Given the description of an element on the screen output the (x, y) to click on. 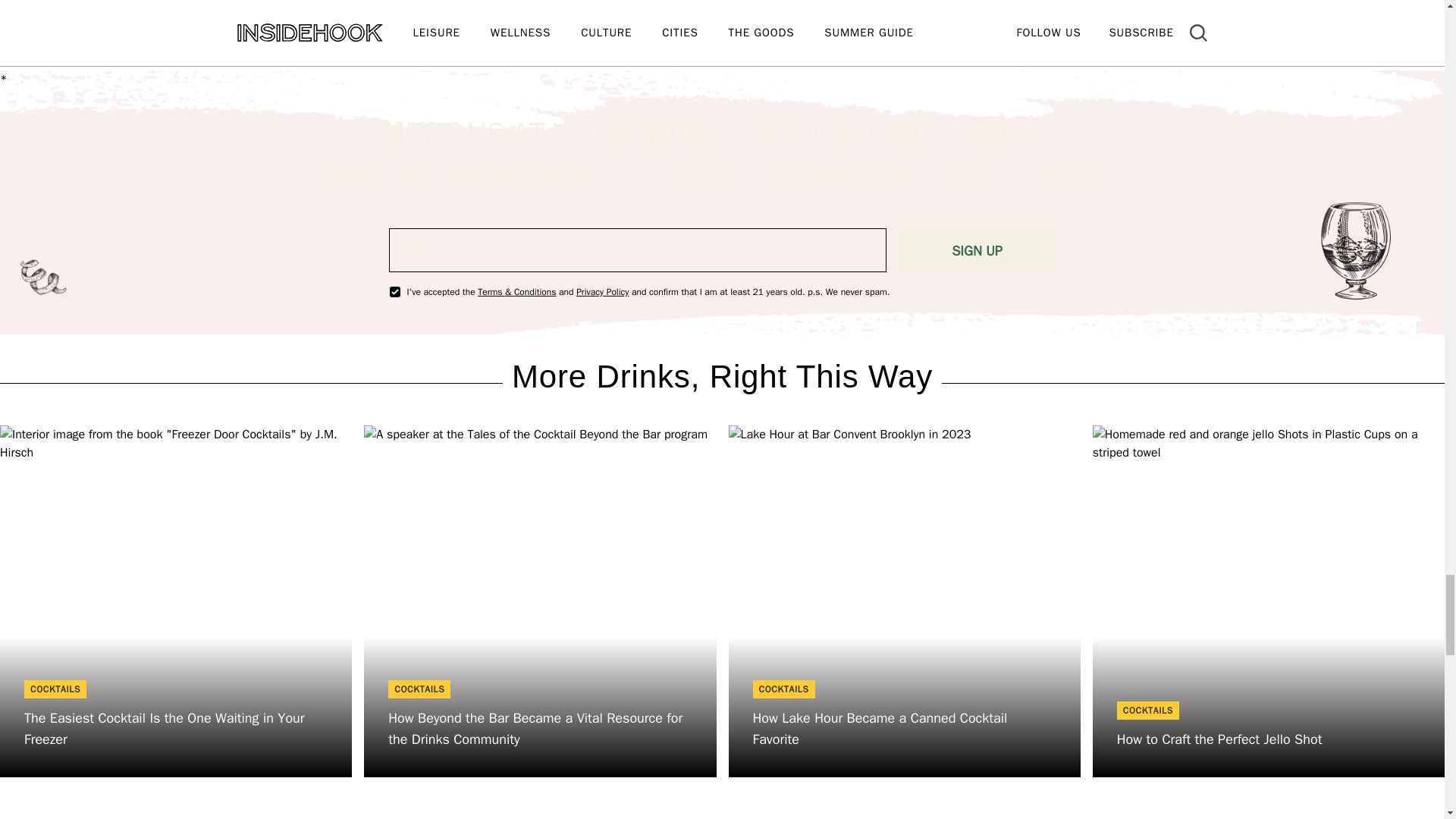
on (394, 291)
